Given the description of an element on the screen output the (x, y) to click on. 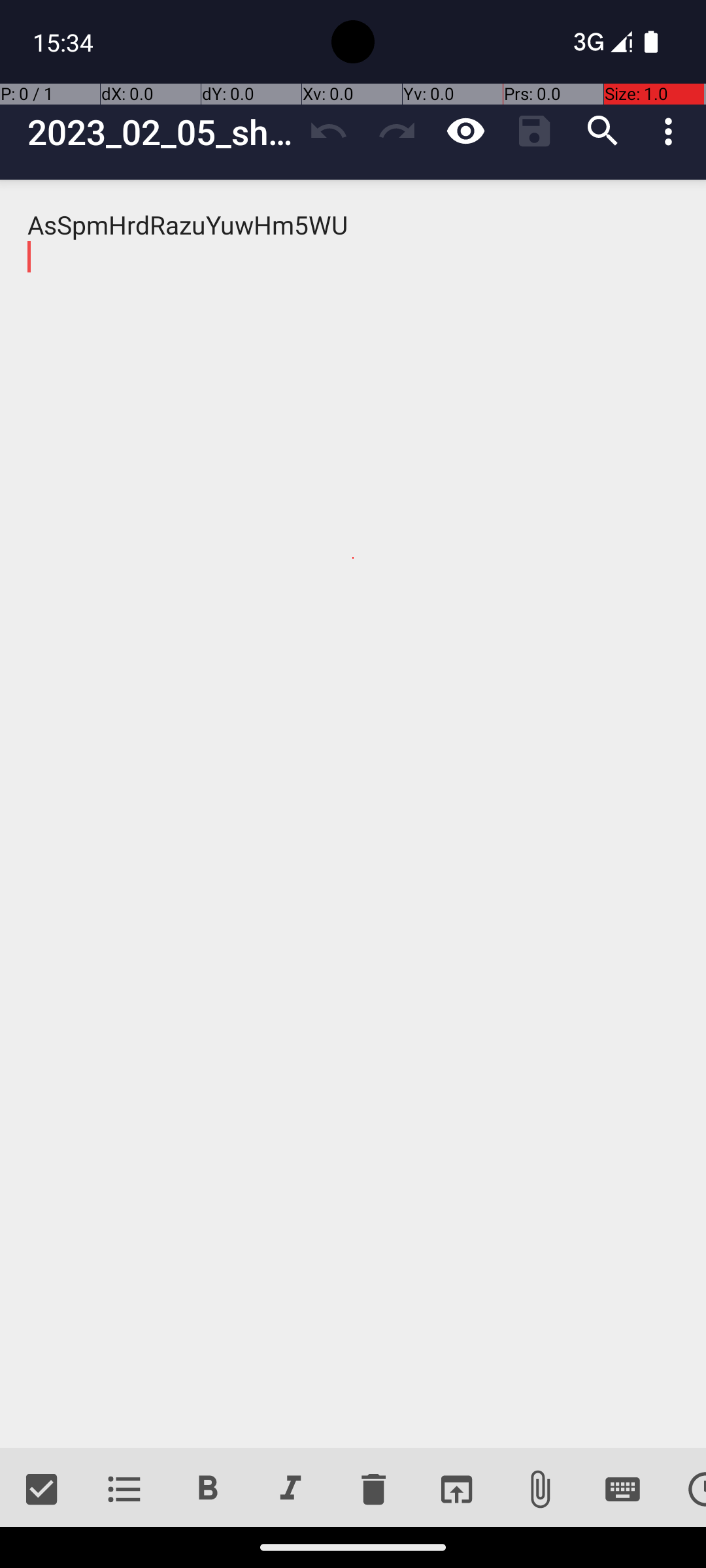
2023_02_05_shy_ocean_2023_02_21 Element type: android.widget.TextView (160, 131)
AsSpmHrdRazuYuwHm5WU
 Element type: android.widget.EditText (353, 813)
